Given the description of an element on the screen output the (x, y) to click on. 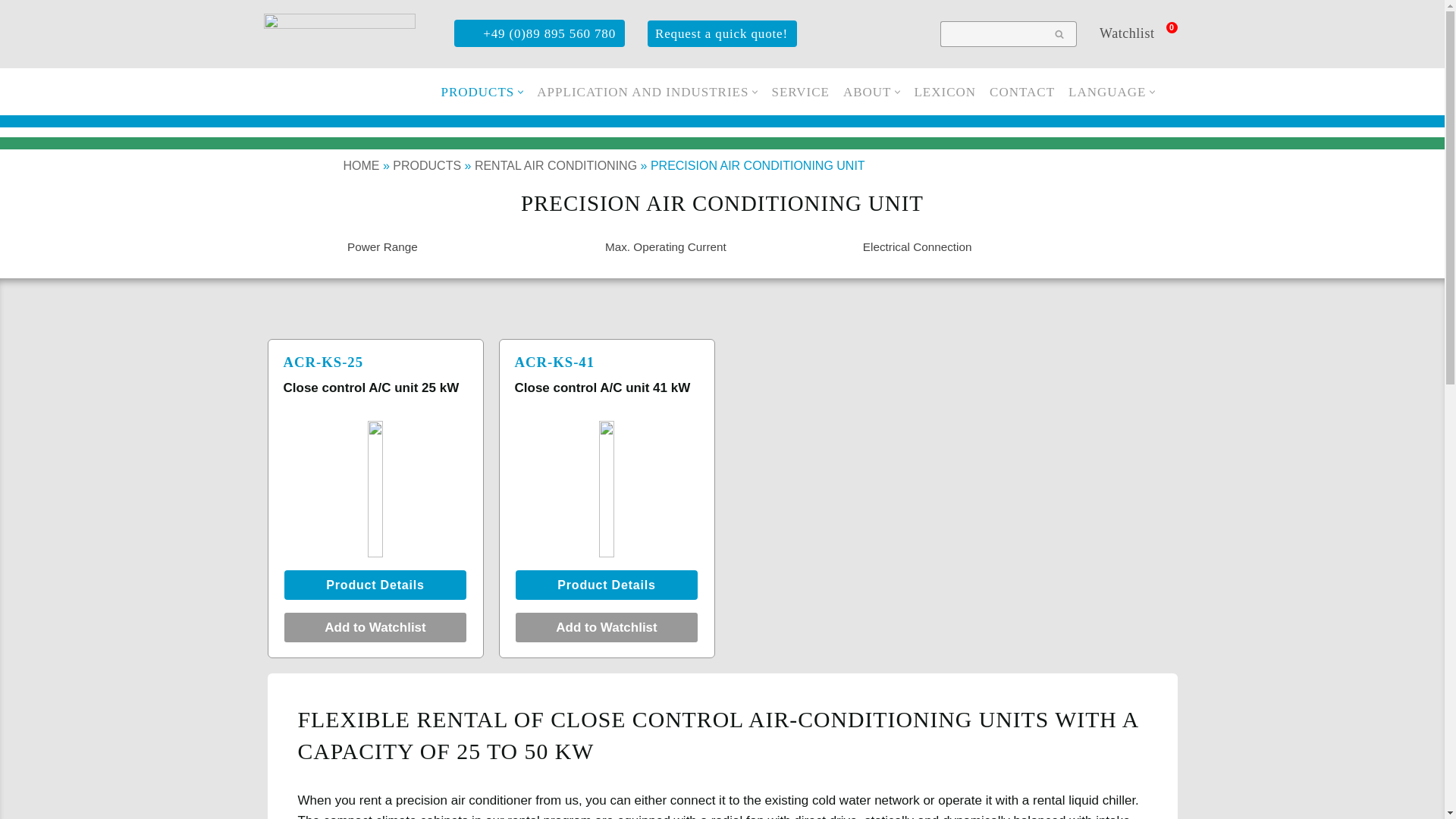
Request a quick quote! (721, 33)
Watchlist (1134, 33)
0 (1171, 27)
PRODUCTS (478, 91)
Skip to content (11, 31)
